Given the description of an element on the screen output the (x, y) to click on. 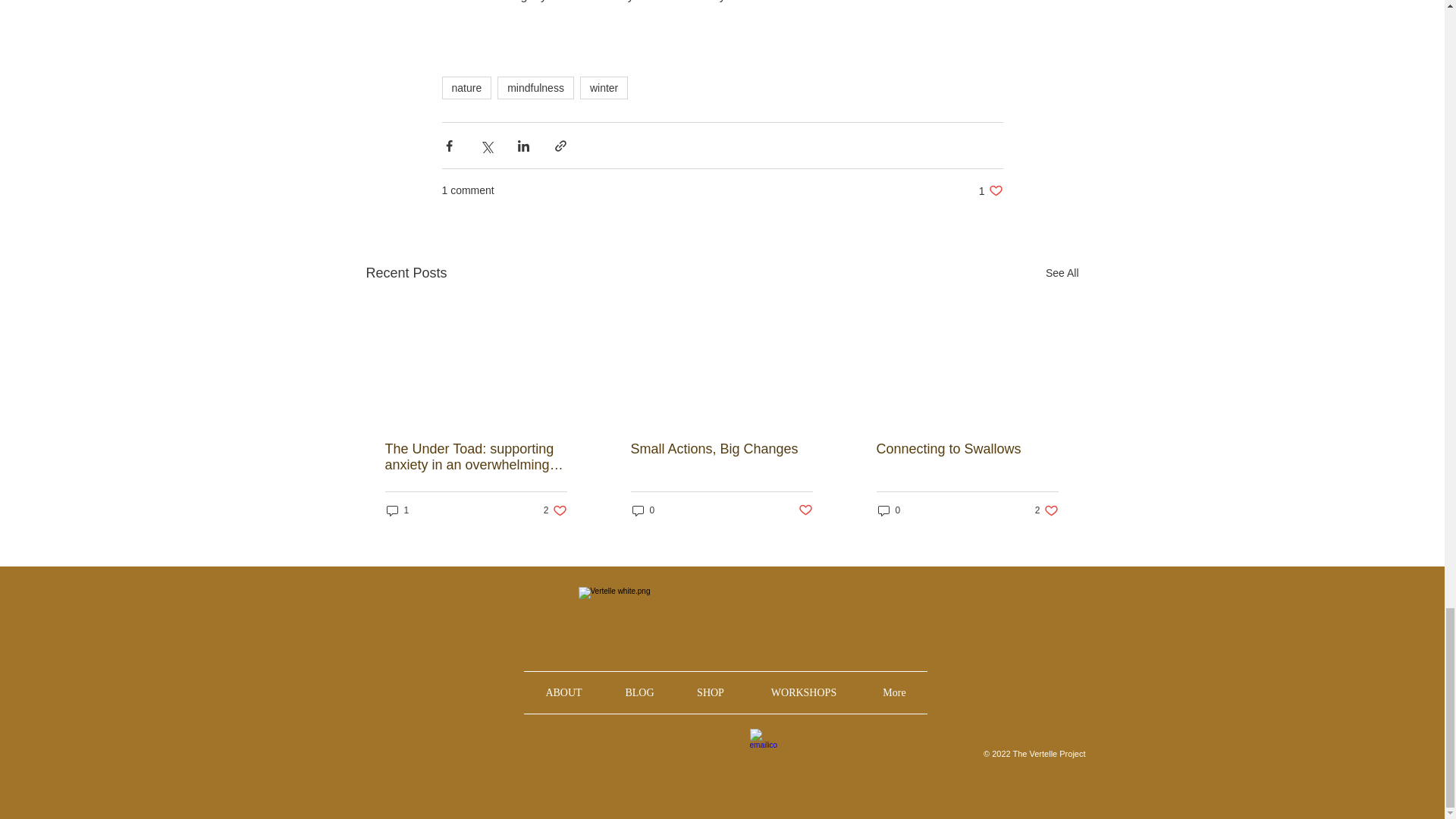
Small Actions, Big Changes (721, 449)
SHOP (1046, 510)
mindfulness (710, 692)
0 (535, 87)
WORKSHOPS (889, 510)
Post not marked as liked (803, 692)
1 (804, 510)
See All (397, 510)
Connecting to Swallows (1061, 273)
